Given the description of an element on the screen output the (x, y) to click on. 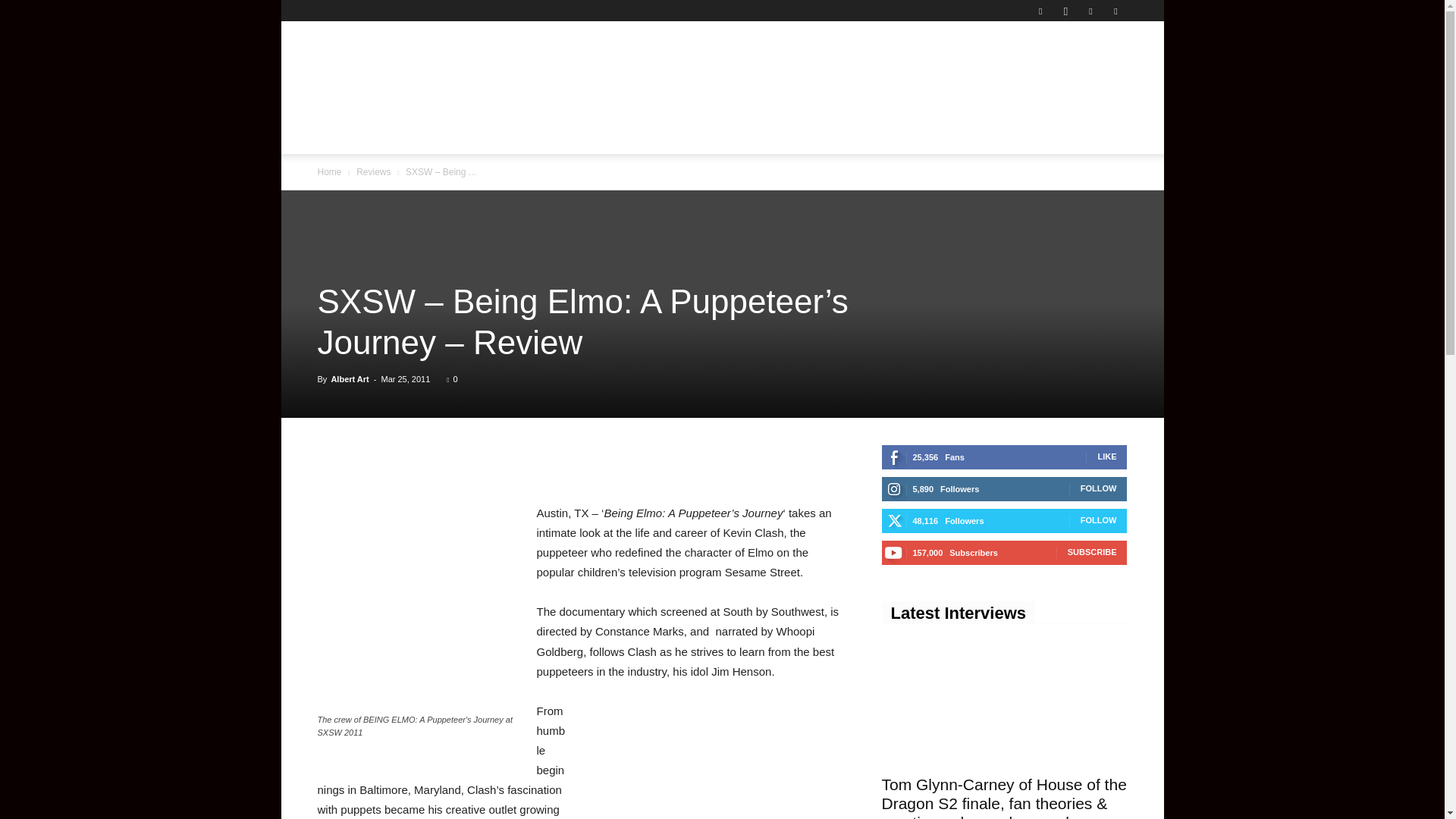
Search (1085, 196)
0 (451, 379)
CONTACT (905, 135)
ABOUT (971, 135)
TV (749, 135)
Reviews (373, 172)
COMPETITIONS (818, 135)
HOME (343, 135)
TRAILERS (530, 135)
Home (328, 172)
